Given the description of an element on the screen output the (x, y) to click on. 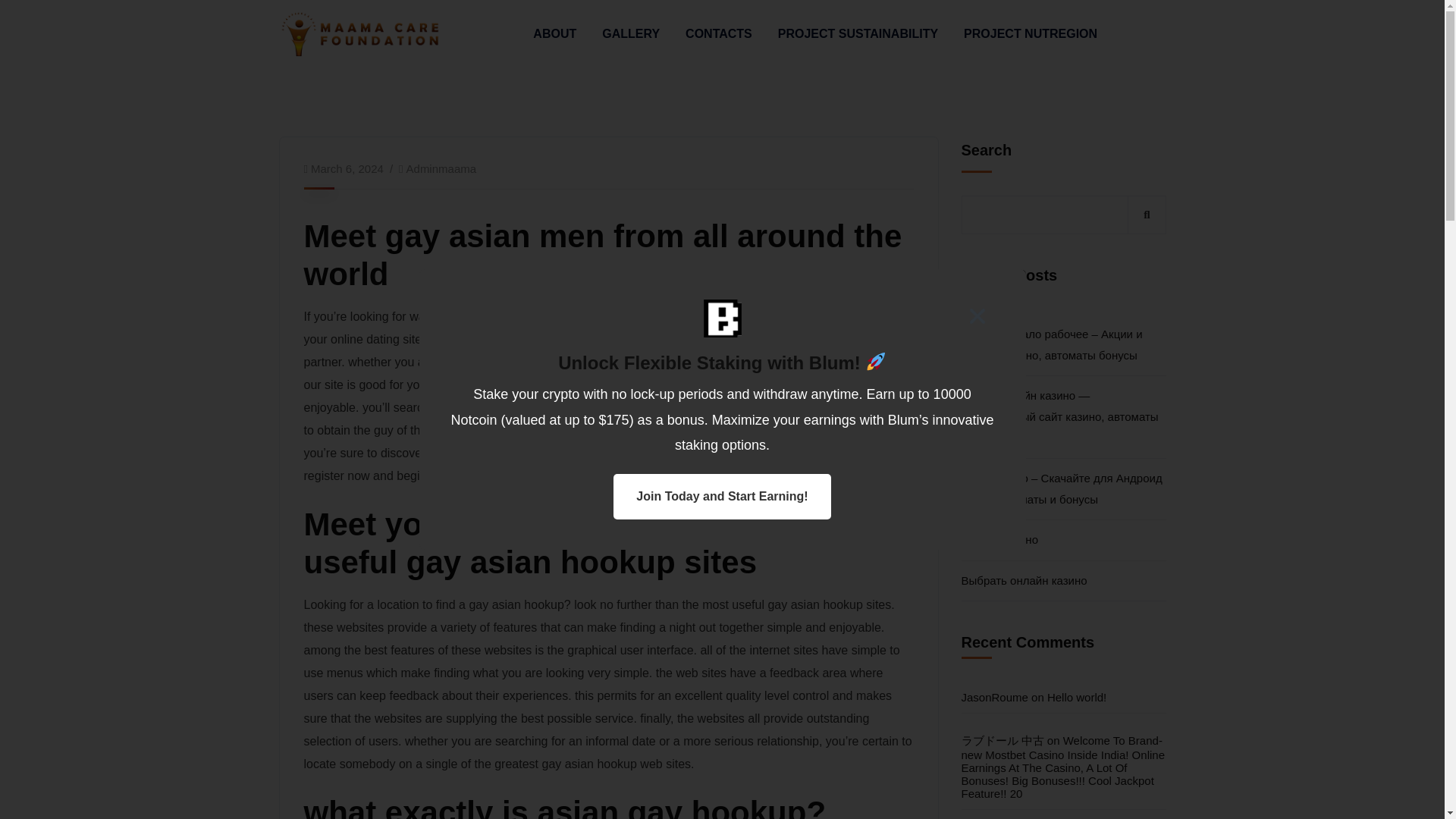
PROJECT SUSTAINABILITY (857, 34)
GALLERY (630, 34)
Maama Care Foundation (360, 32)
PROJECT NUTREGION (1030, 34)
Adminmaama (441, 168)
Posts by adminmaama (441, 168)
CONTACTS (718, 34)
